Given the description of an element on the screen output the (x, y) to click on. 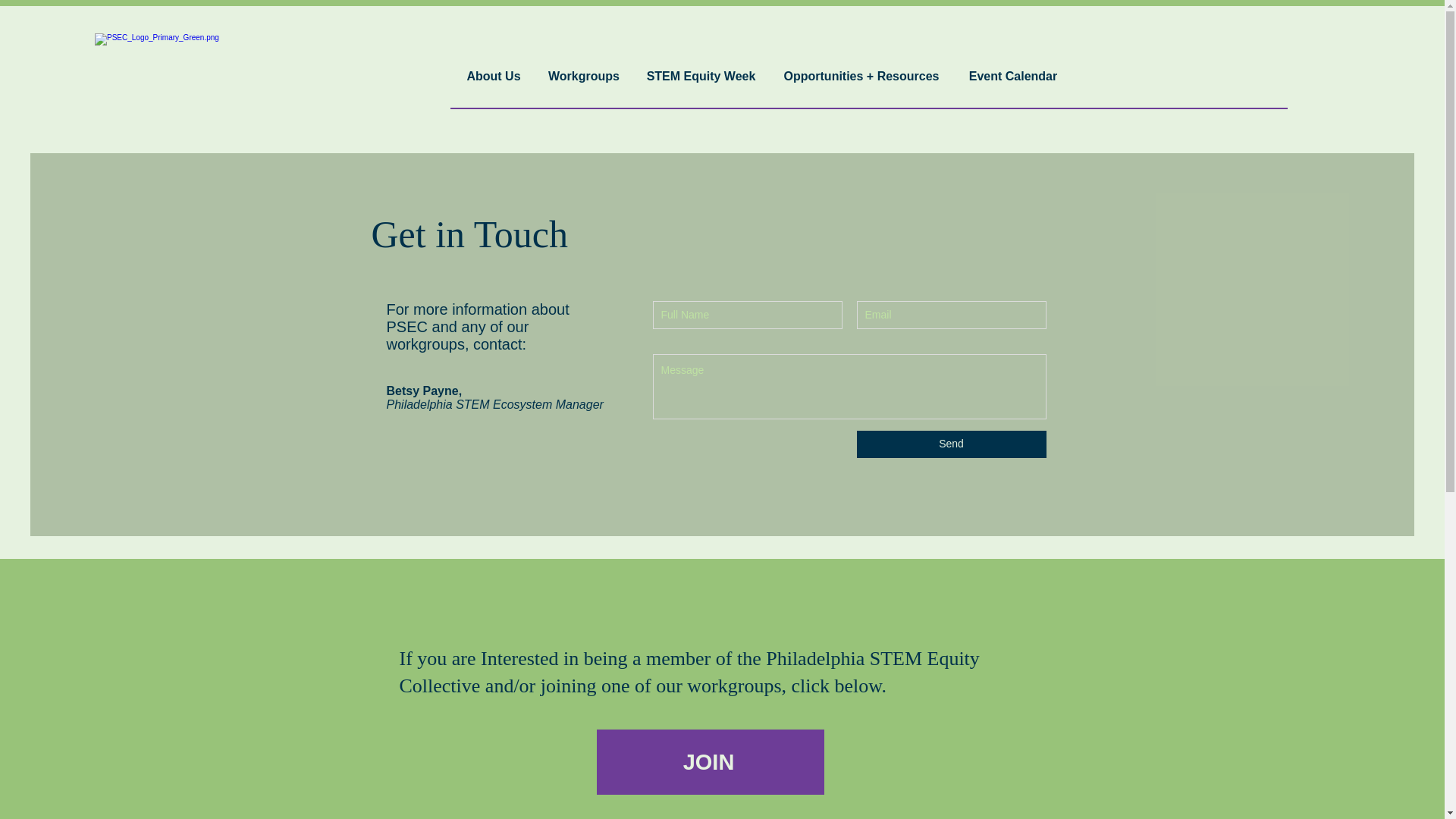
JOIN (709, 761)
STEM Equity Week (700, 69)
About Us (493, 69)
Workgroups (583, 69)
Event Calendar (1012, 69)
Send (951, 443)
